Given the description of an element on the screen output the (x, y) to click on. 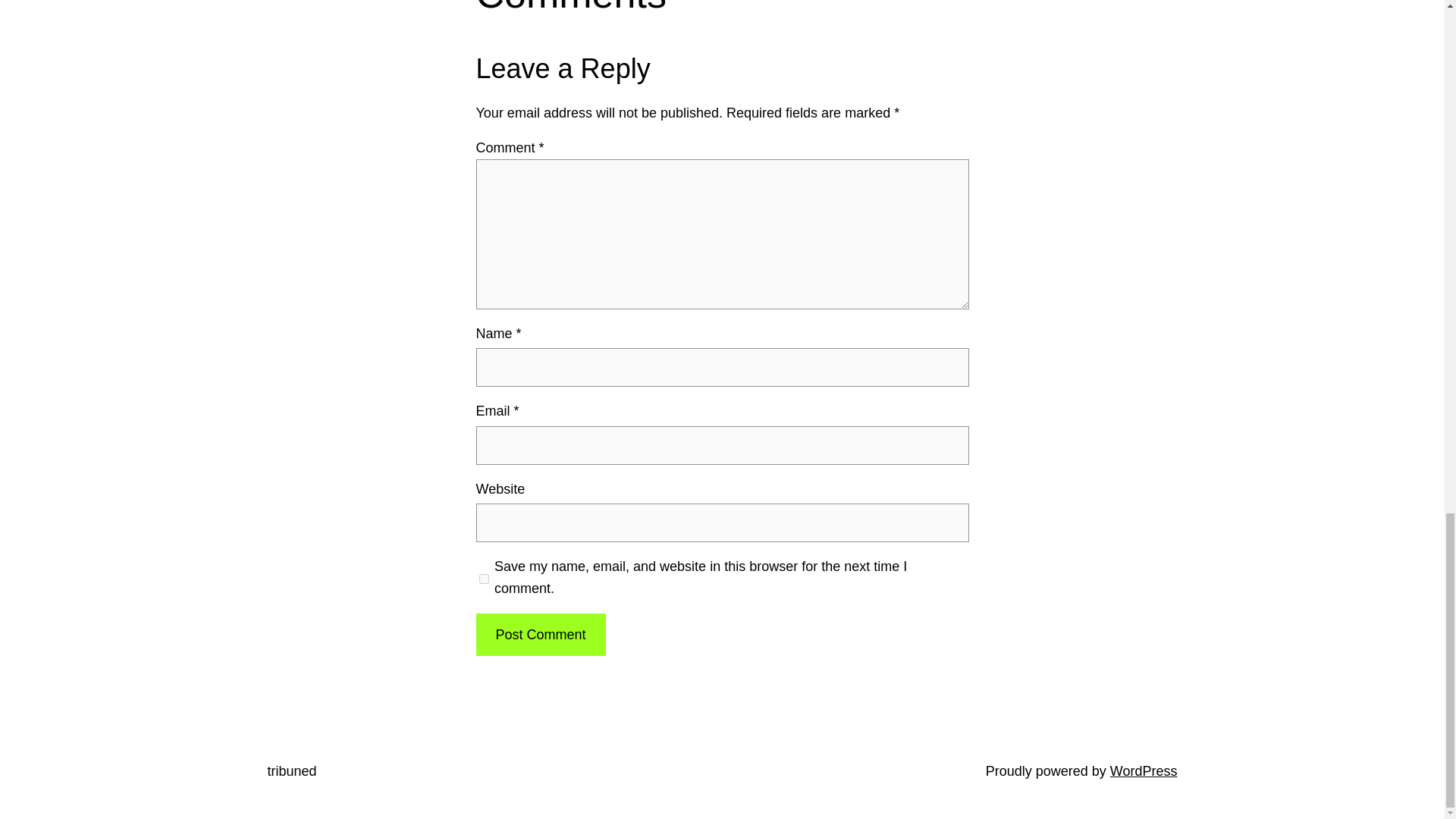
Post Comment (540, 634)
tribuned (290, 770)
Post Comment (540, 634)
WordPress (1143, 770)
